Given the description of an element on the screen output the (x, y) to click on. 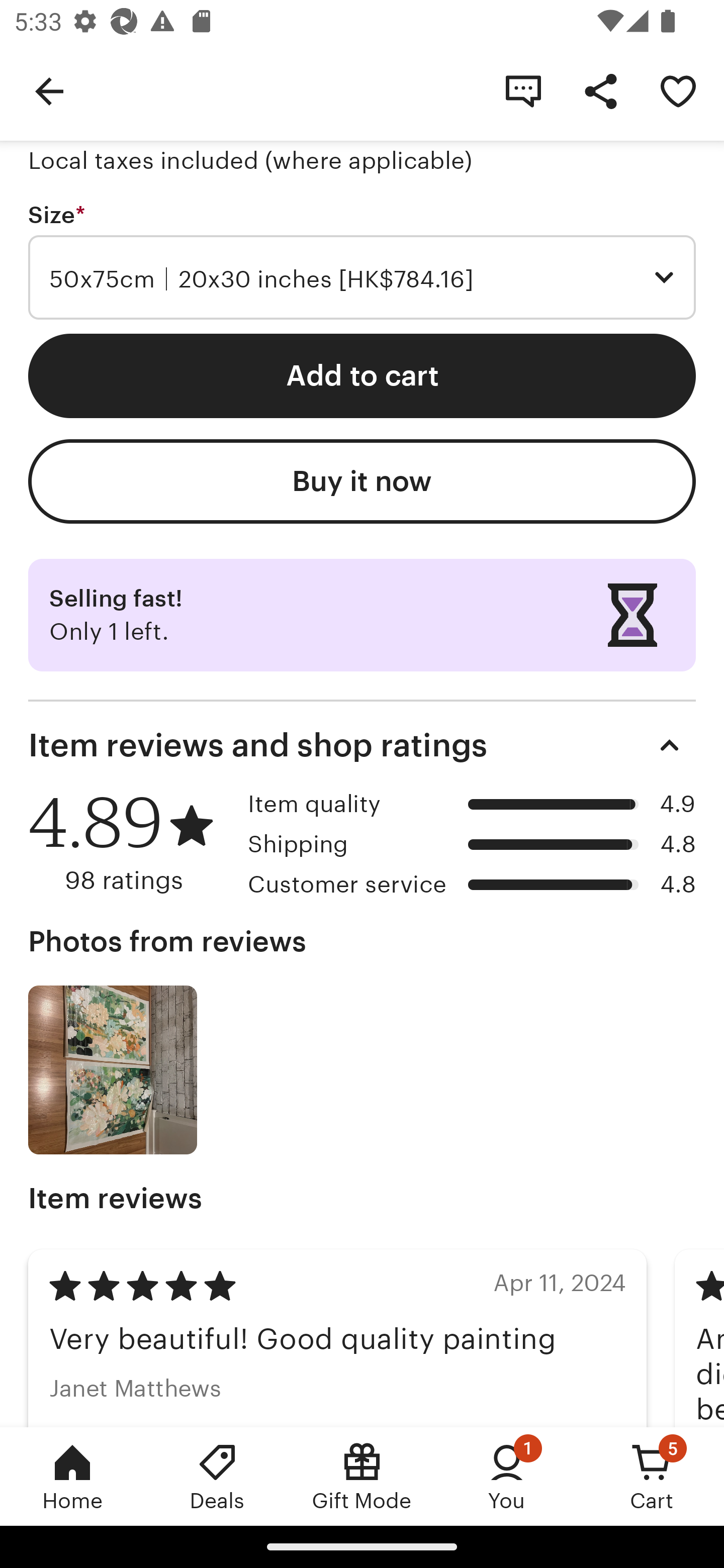
Navigate up (49, 90)
Contact shop (523, 90)
Share (600, 90)
Size * Required 50x75cm｜20x30 inches [HK$784.16] (361, 260)
50x75cm｜20x30 inches [HK$784.16] (361, 277)
Add to cart (361, 375)
Buy it now (361, 481)
Item reviews and shop ratings (362, 744)
4.89 98 ratings (130, 842)
Photo from review (112, 1070)
Deals (216, 1475)
Gift Mode (361, 1475)
You, 1 new notification You (506, 1475)
Cart, 5 new notifications Cart (651, 1475)
